Given the description of an element on the screen output the (x, y) to click on. 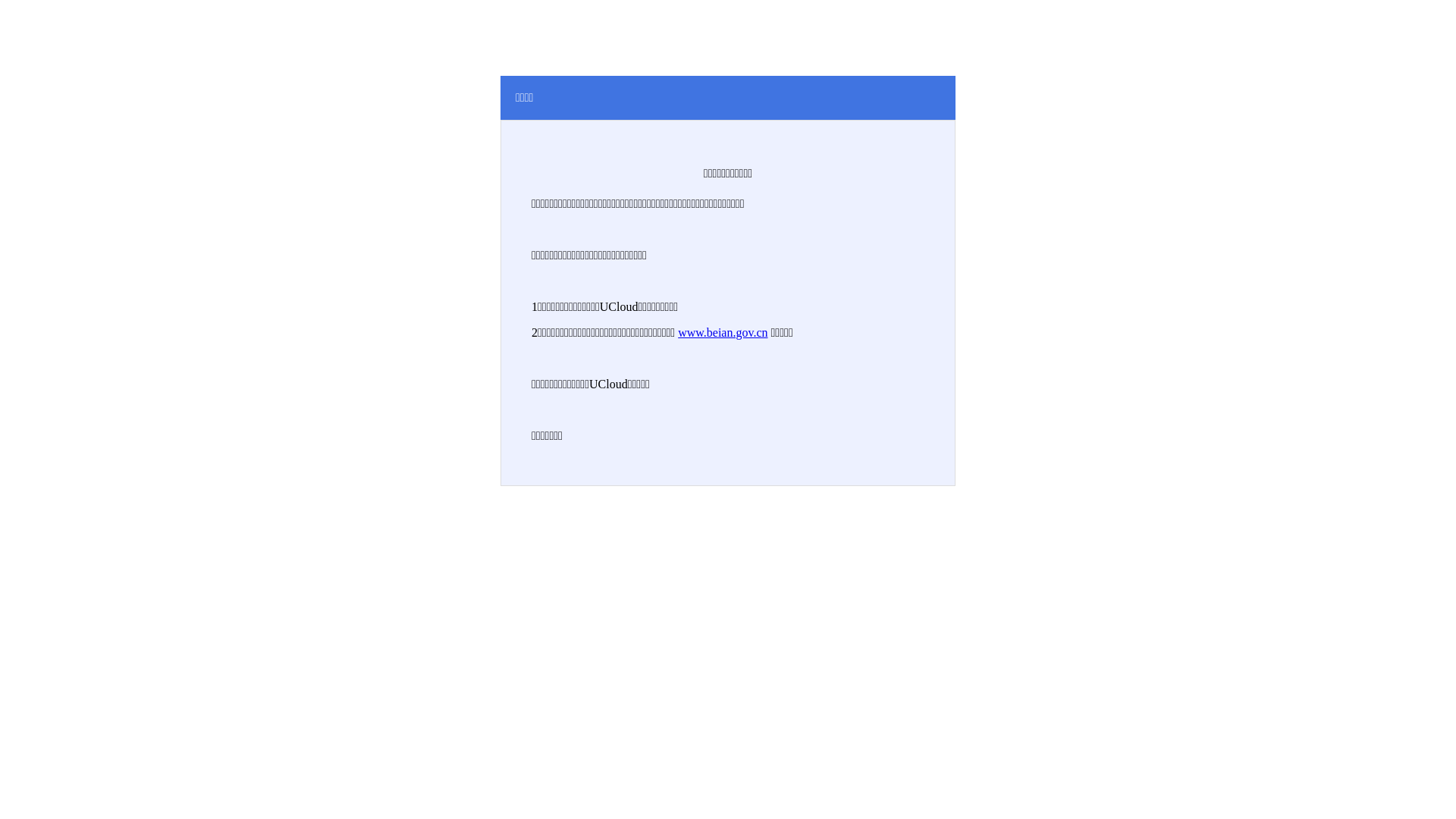
www.beian.gov.cn Element type: text (722, 332)
